Given the description of an element on the screen output the (x, y) to click on. 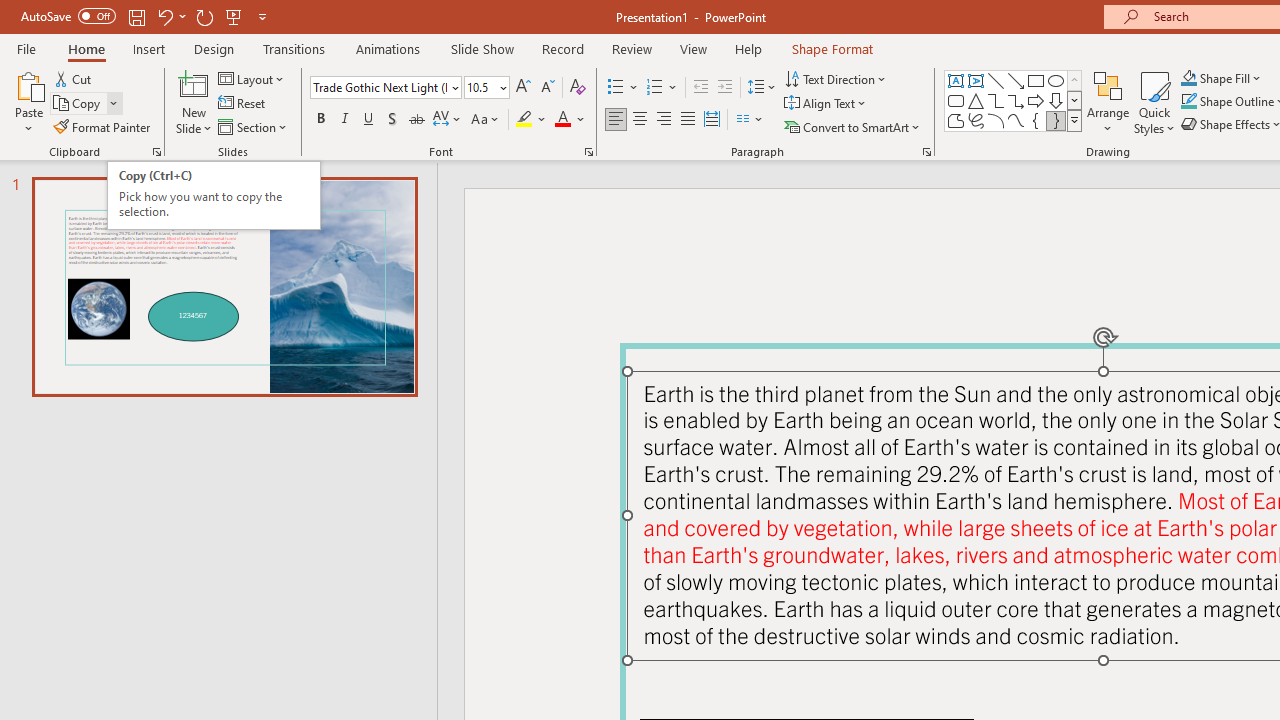
Shape Fill Aqua, Accent 2 (1188, 78)
